Given the description of an element on the screen output the (x, y) to click on. 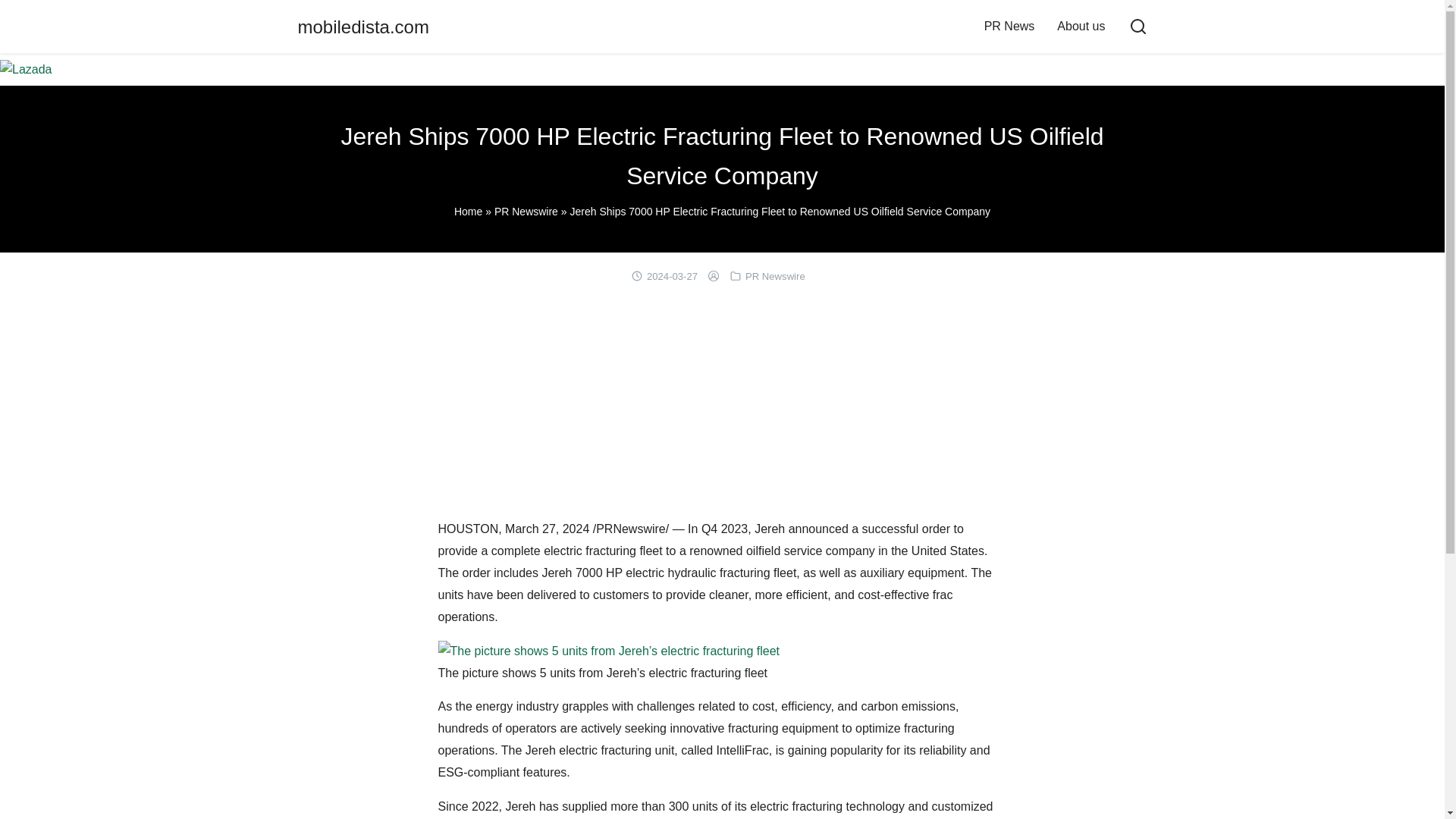
PR News (1009, 26)
mobiledista.com (362, 26)
Home (467, 211)
PR Newswire (775, 276)
PR Newswire (526, 211)
About us (1080, 26)
2024-03-27 (671, 276)
